Given the description of an element on the screen output the (x, y) to click on. 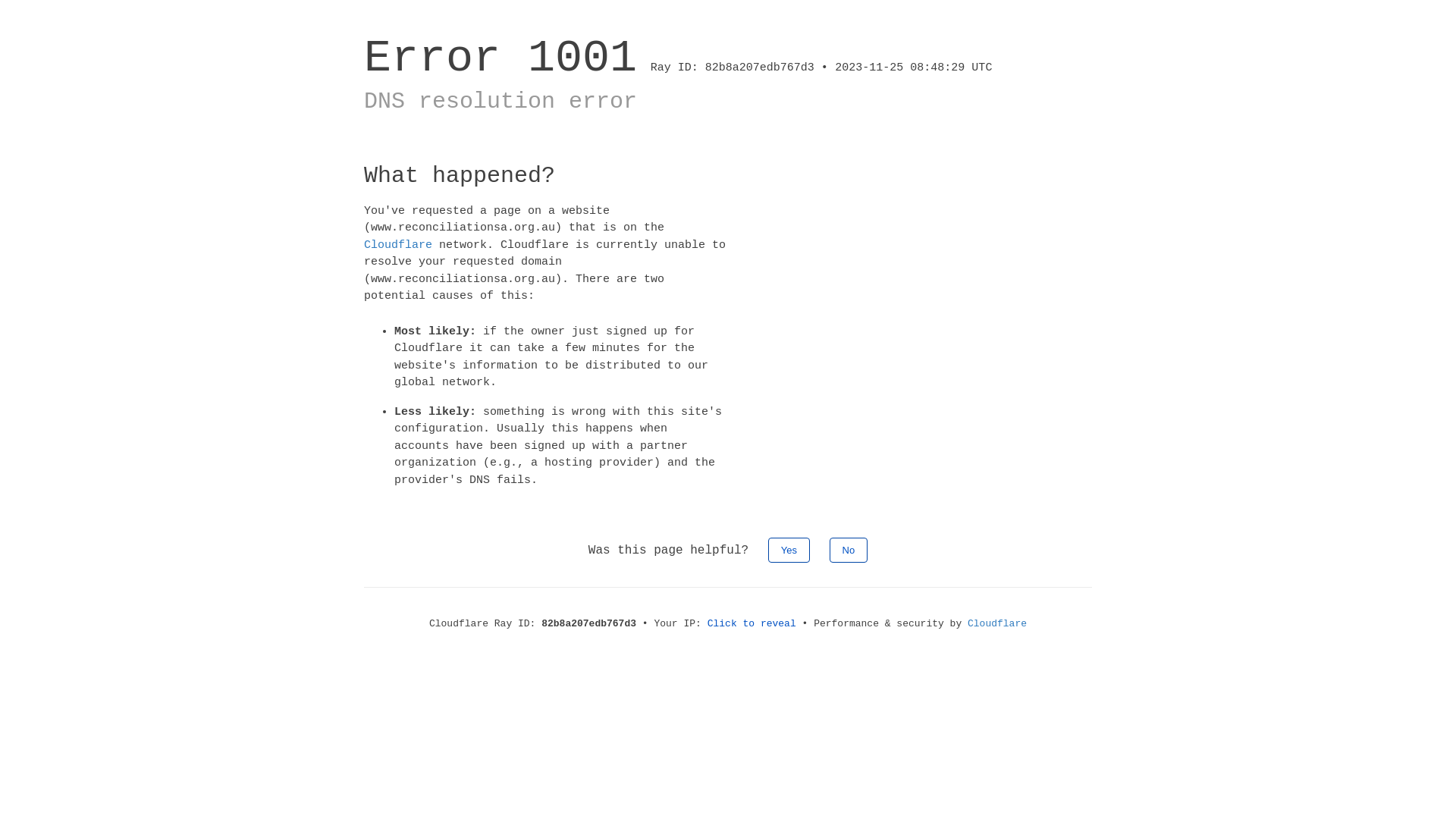
Click to reveal Element type: text (751, 623)
Cloudflare Element type: text (996, 623)
Yes Element type: text (788, 549)
Cloudflare Element type: text (398, 244)
No Element type: text (848, 549)
